Given the description of an element on the screen output the (x, y) to click on. 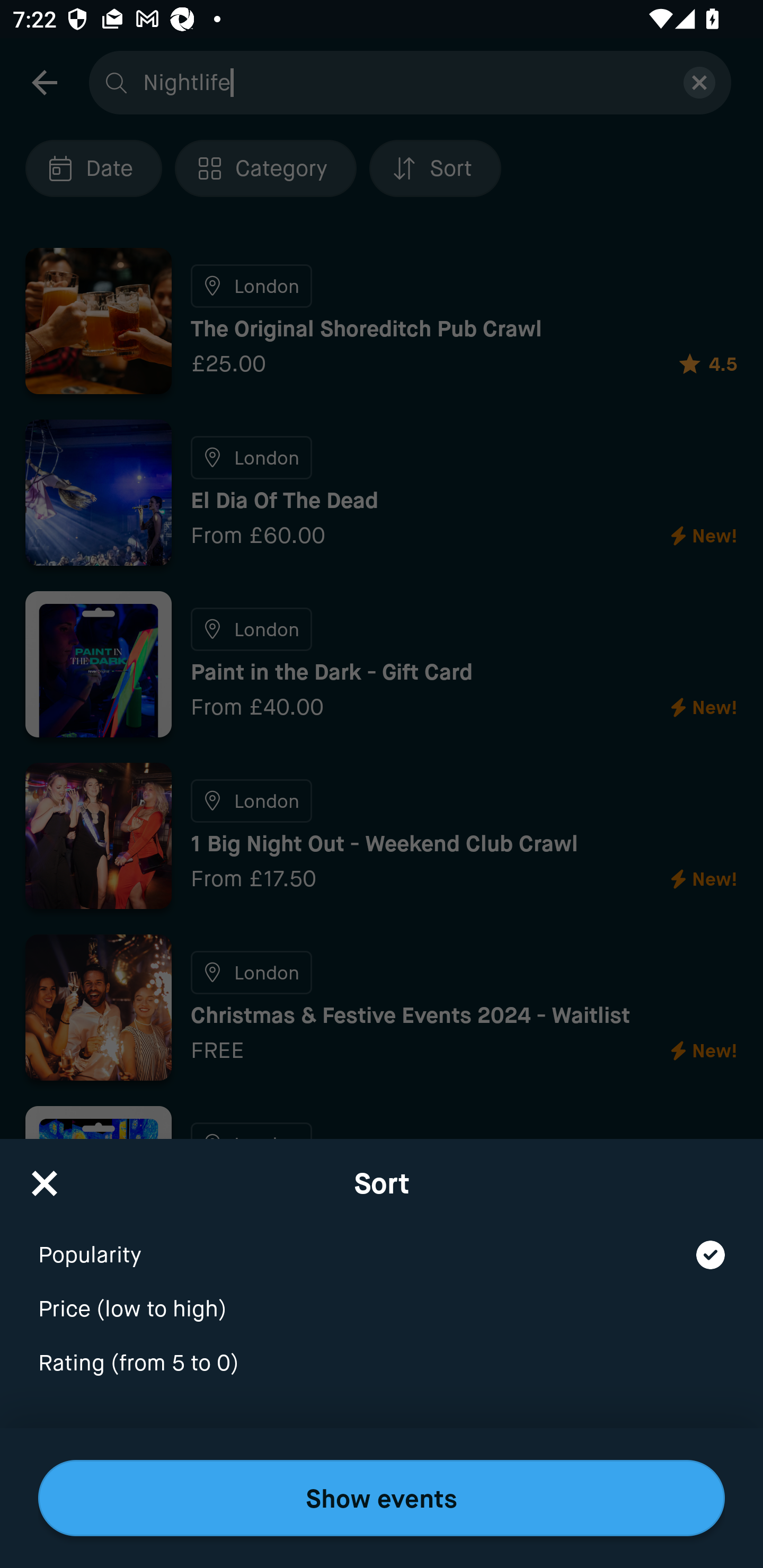
CloseButton (44, 1177)
Popularity Selected Icon (381, 1243)
Price (low to high) (381, 1297)
Rating (from 5 to 0) (381, 1362)
Show events (381, 1497)
